Given the description of an element on the screen output the (x, y) to click on. 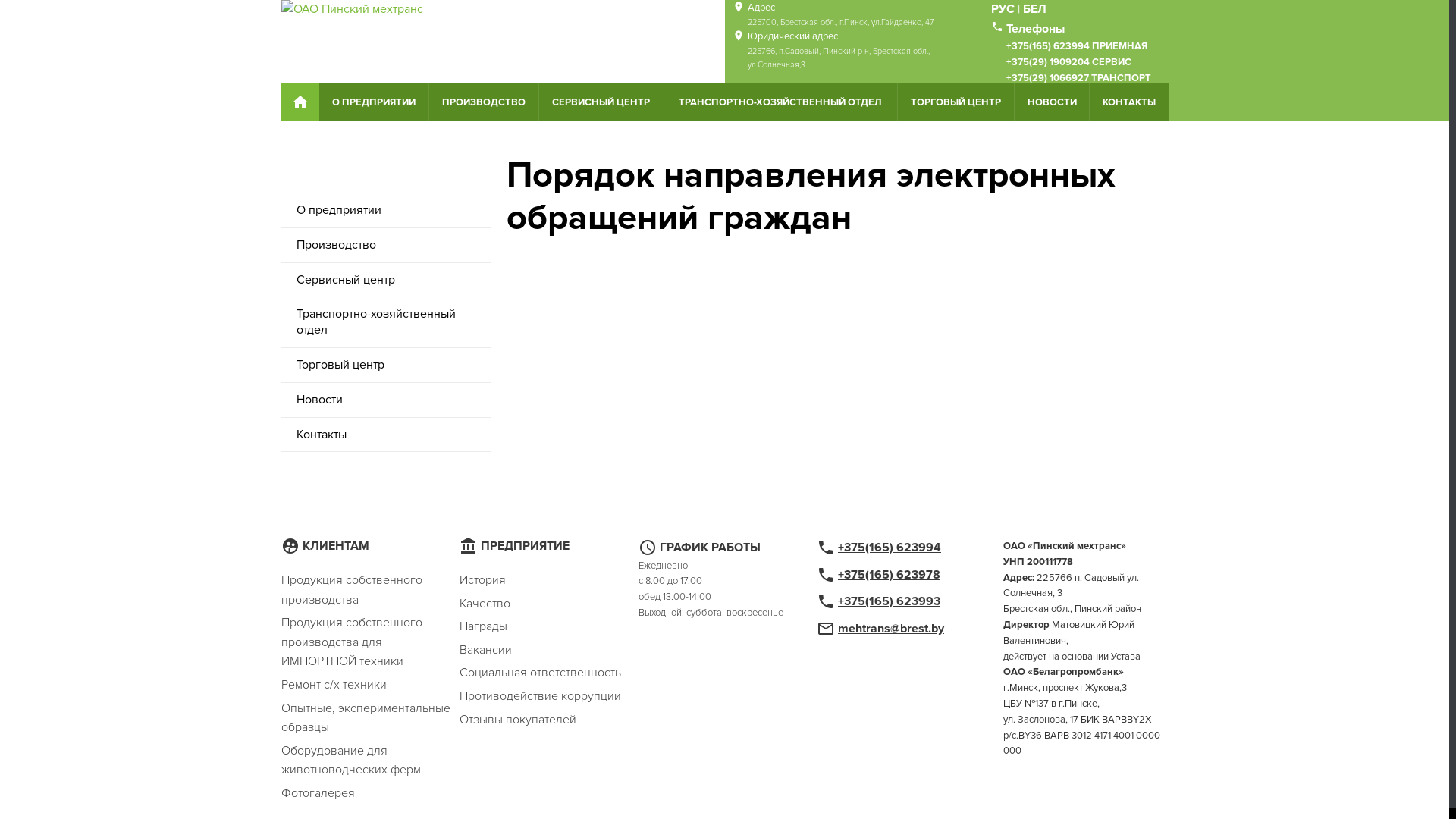
home Element type: text (299, 102)
+375(165) 623978 Element type: text (888, 574)
mehtrans@brest.by Element type: text (890, 628)
+375(165) 623993 Element type: text (888, 600)
+375(165) 623994 Element type: text (889, 547)
